Given the description of an element on the screen output the (x, y) to click on. 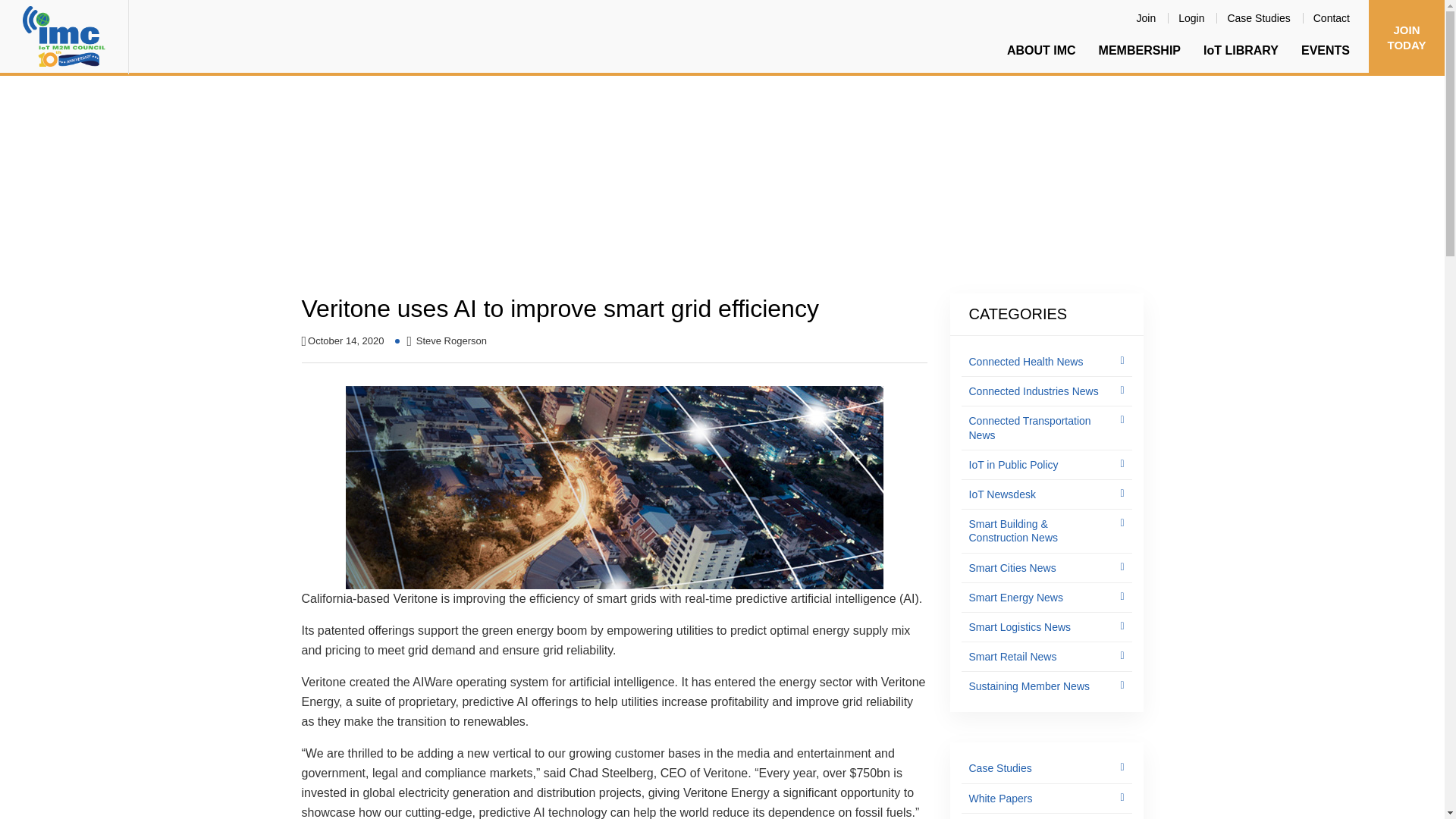
News (427, 202)
Join (1146, 17)
Case Studies (1258, 17)
ABOUT IMC (1041, 50)
Home (317, 202)
MEMBERSHIP (1139, 50)
Login (1191, 17)
IoT Library (372, 202)
EVENTS (1325, 50)
IoT LIBRARY (1241, 50)
